Given the description of an element on the screen output the (x, y) to click on. 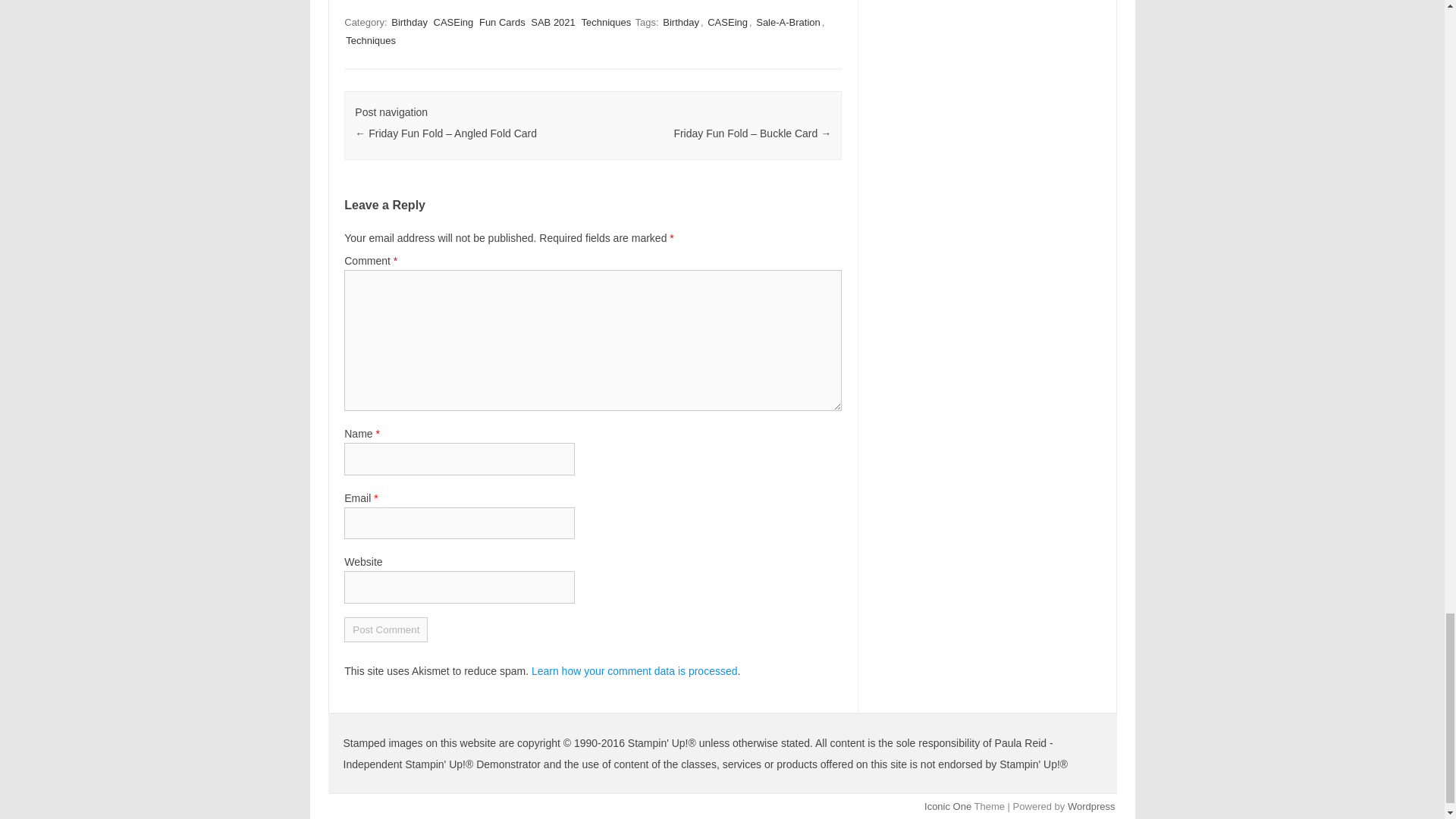
Birthday (680, 22)
CASEing (727, 22)
Sale-A-Bration (788, 22)
Techniques (370, 40)
CASEing (454, 22)
Techniques (605, 22)
Post Comment (385, 629)
Fun Cards (502, 22)
Birthday (409, 22)
SAB 2021 (552, 22)
